Given the description of an element on the screen output the (x, y) to click on. 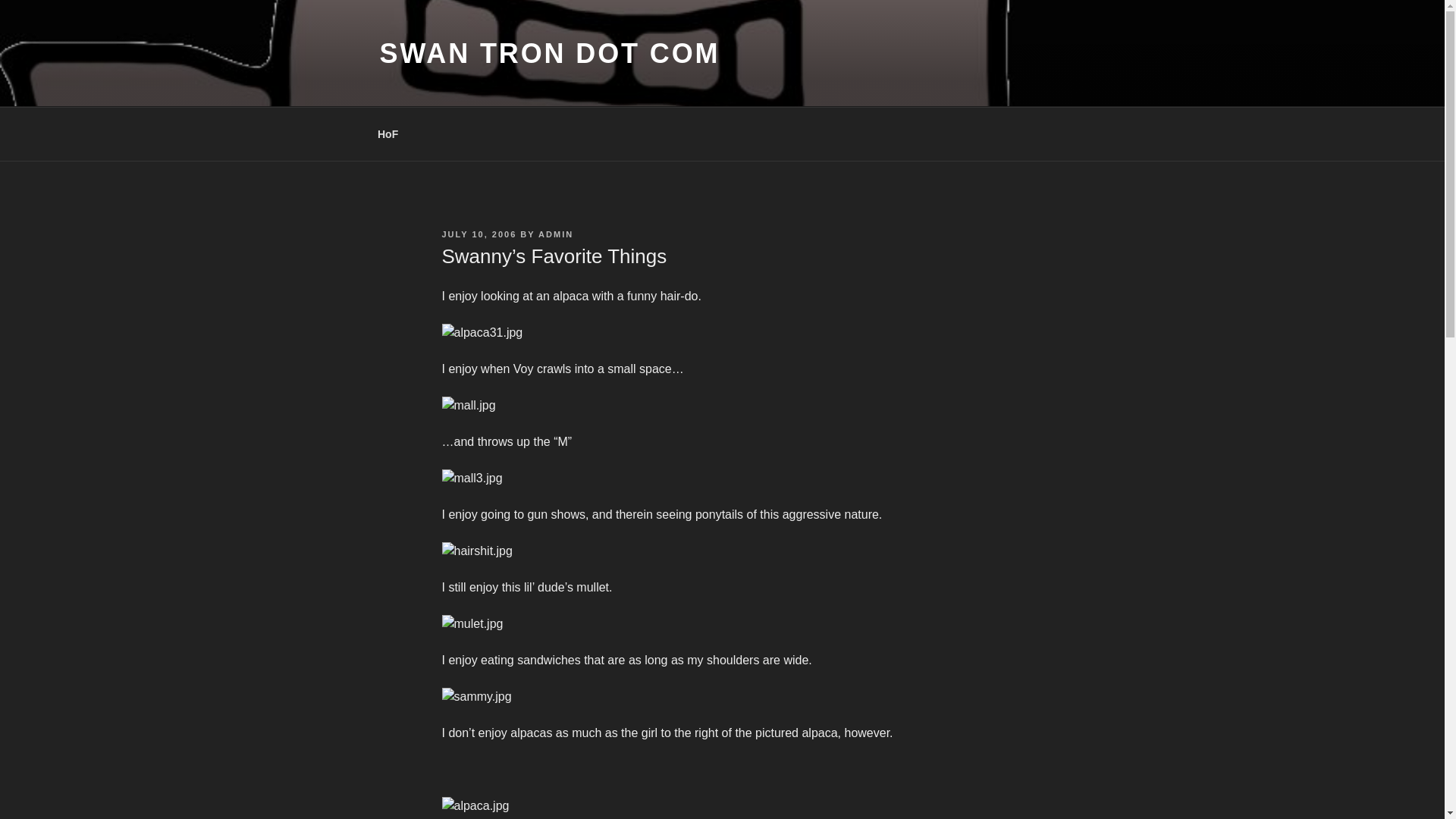
ADMIN (555, 234)
JULY 10, 2006 (478, 234)
HoF (387, 133)
SWAN TRON DOT COM (548, 52)
